Given the description of an element on the screen output the (x, y) to click on. 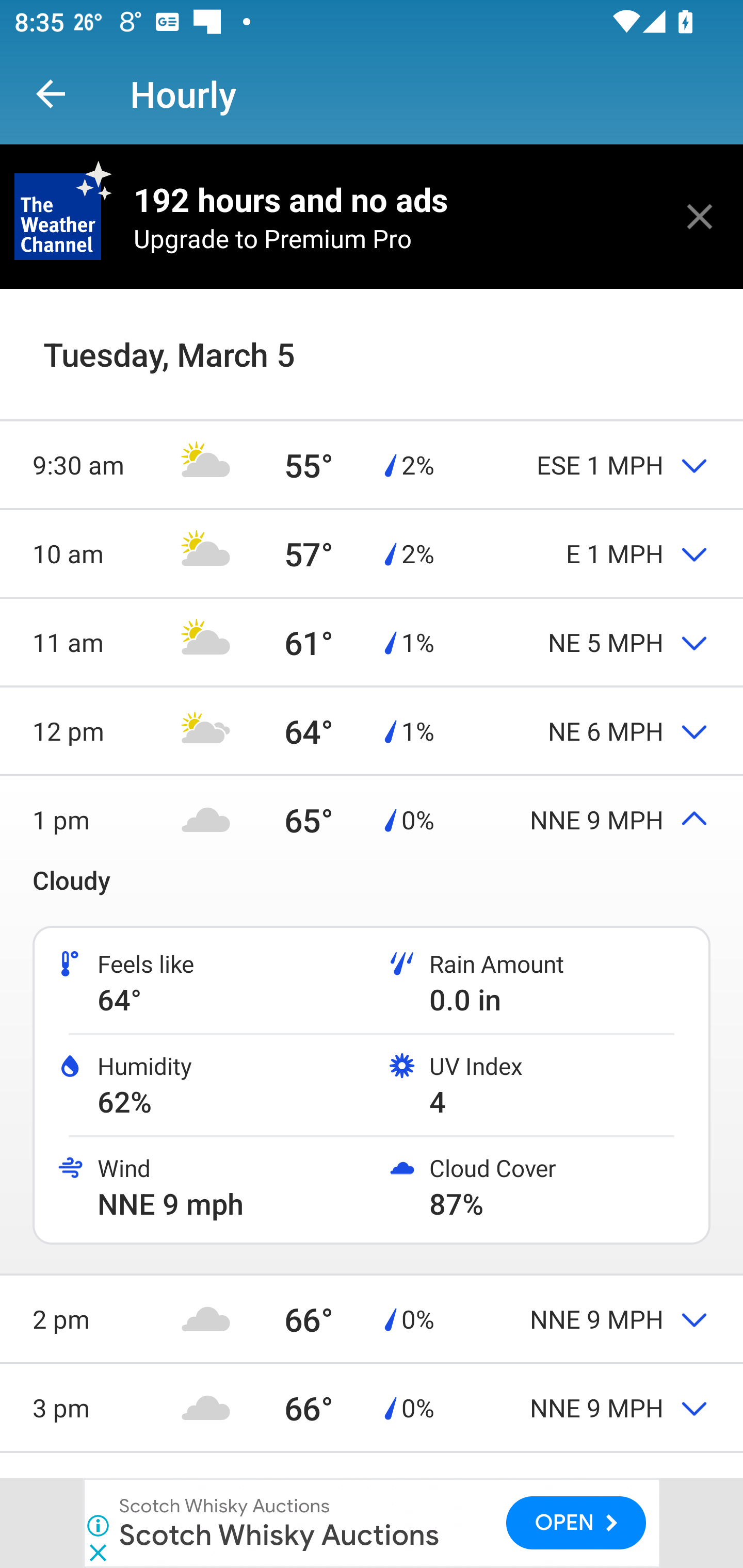
Navigate up (50, 93)
close this (699, 216)
9:30 am 55° 2% ESE 1 MPH (371, 464)
10 am 57° 2% E 1 MPH (371, 553)
11 am 61° 1% NE 5 MPH (371, 641)
12 pm 64° 1% NE 6 MPH (371, 730)
1 pm 65° 0% NNE 9 MPH (371, 819)
2 pm 66° 0% NNE 9 MPH (371, 1318)
3 pm 66° 0% NNE 9 MPH (371, 1407)
Scotch Whisky Auctions (225, 1505)
OPEN (576, 1522)
Scotch Whisky Auctions (278, 1533)
